Given the description of an element on the screen output the (x, y) to click on. 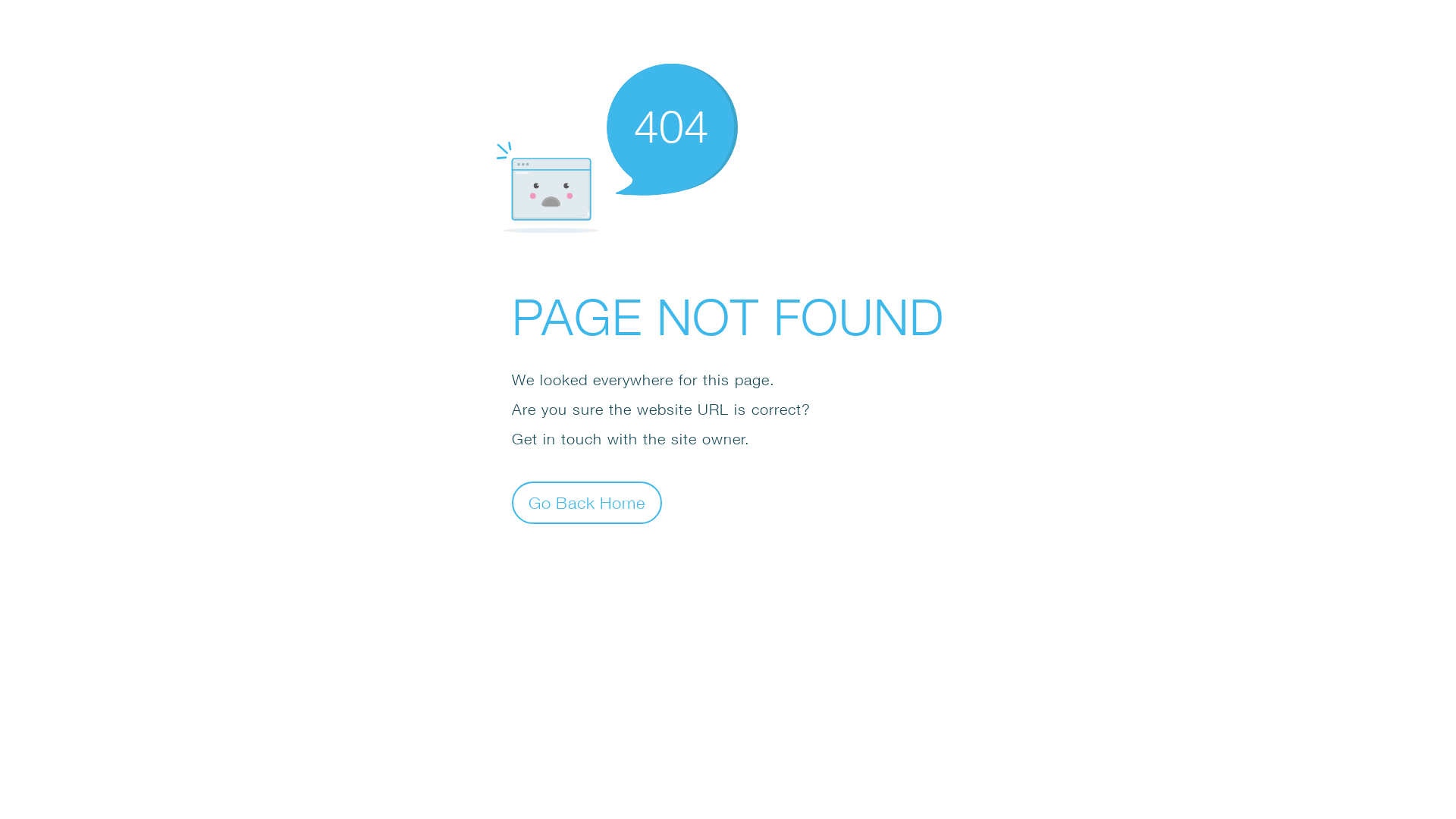
Go Back Home Element type: text (586, 502)
